Given the description of an element on the screen output the (x, y) to click on. 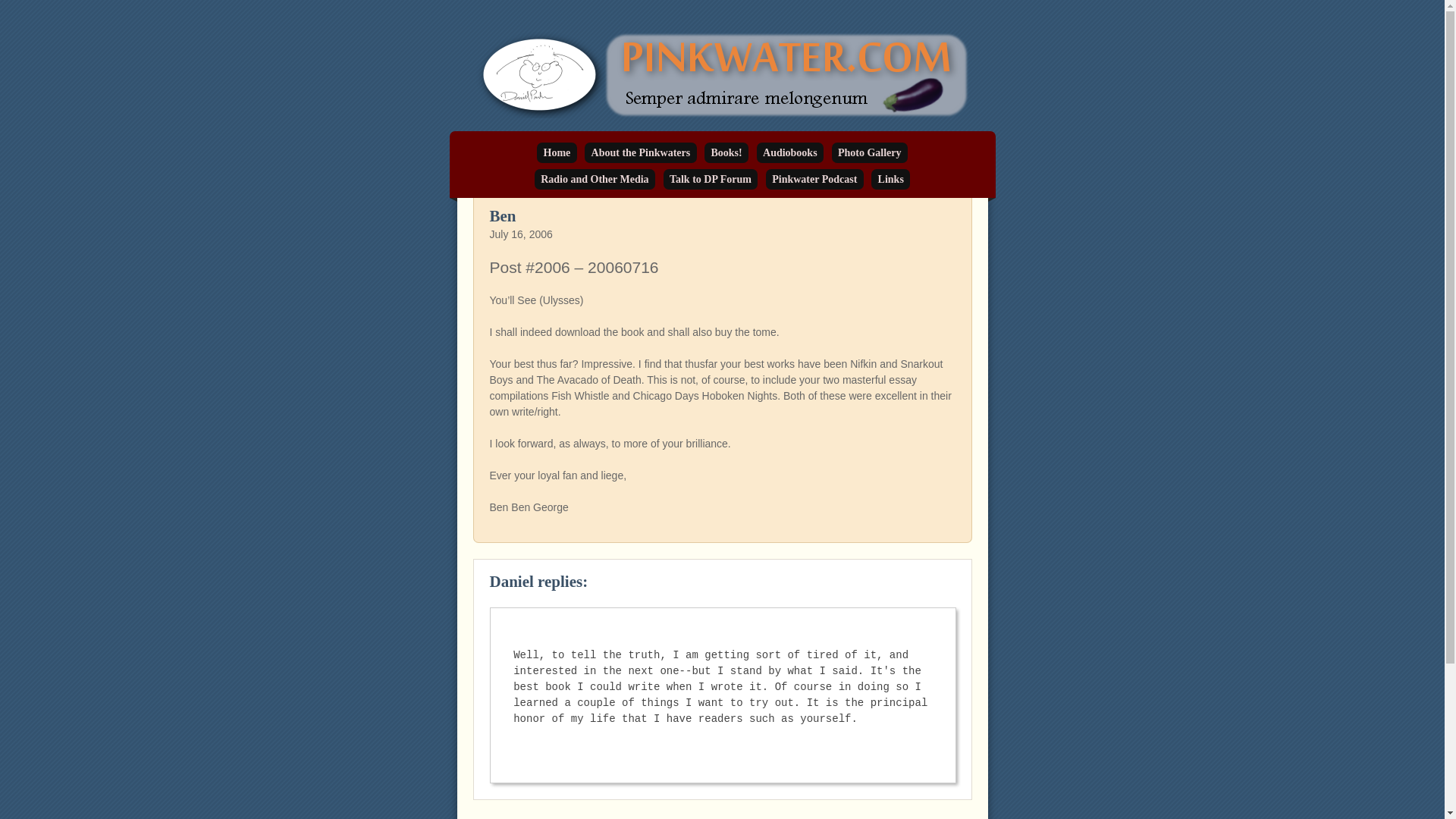
Pinkwater Podcast (814, 178)
Links (890, 178)
Talk to DP Forum (710, 178)
Books! (726, 152)
Home (556, 152)
About the Pinkwaters (640, 152)
Audiobooks (790, 152)
pinkwater.com (557, 170)
Radio and Other Media (594, 178)
Photo Gallery (869, 152)
